Given the description of an element on the screen output the (x, y) to click on. 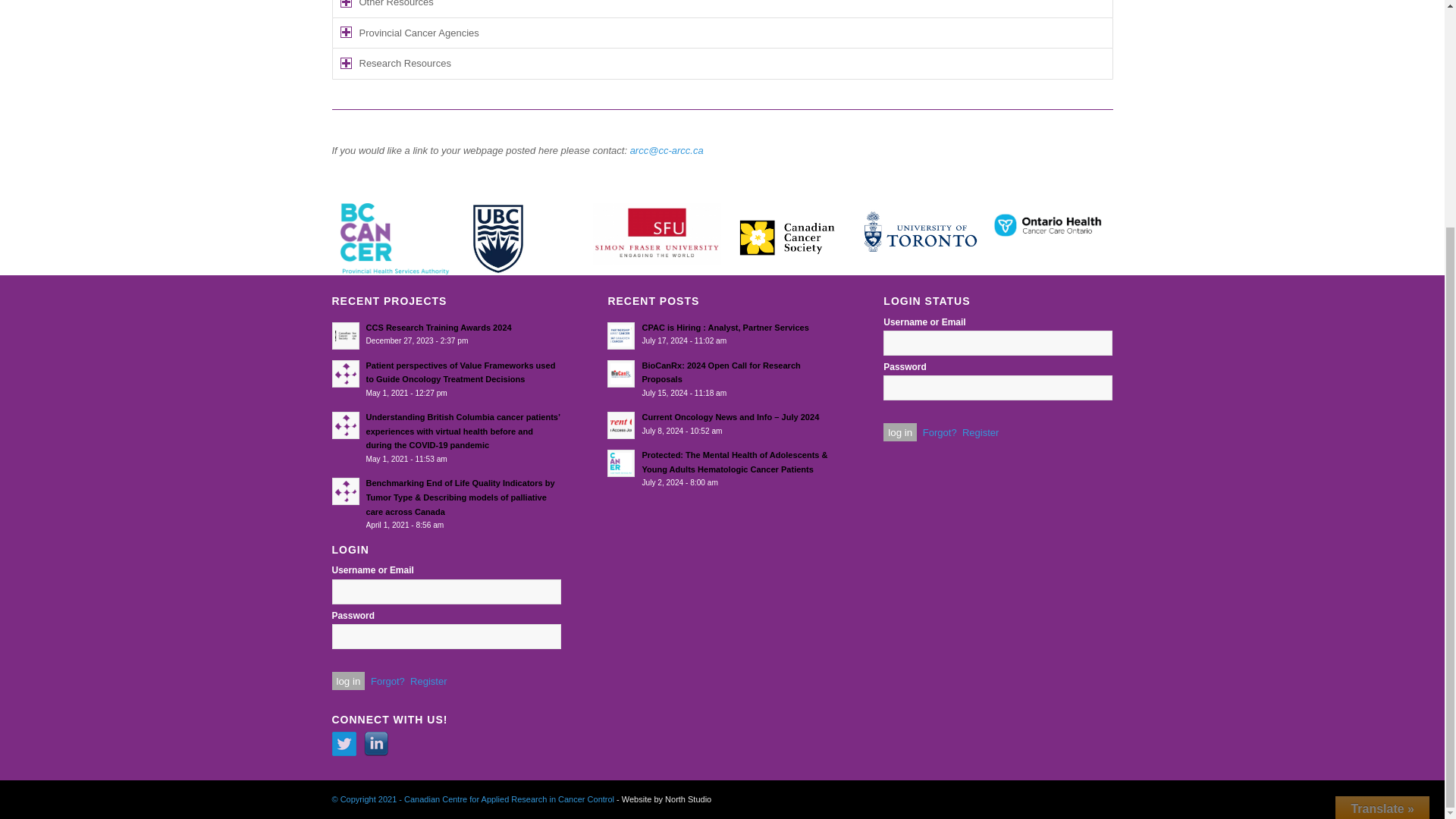
BioCanRx: 2024 Open Call for Research Proposals (721, 379)
log in (900, 432)
Follow Us on LinkedIn (376, 743)
Follow Us on Twitter (343, 743)
CPAC is Hiring : Analyst, Partner Services (721, 334)
log in (348, 680)
CCS Research Training Awards 2024 (445, 334)
